Given the description of an element on the screen output the (x, y) to click on. 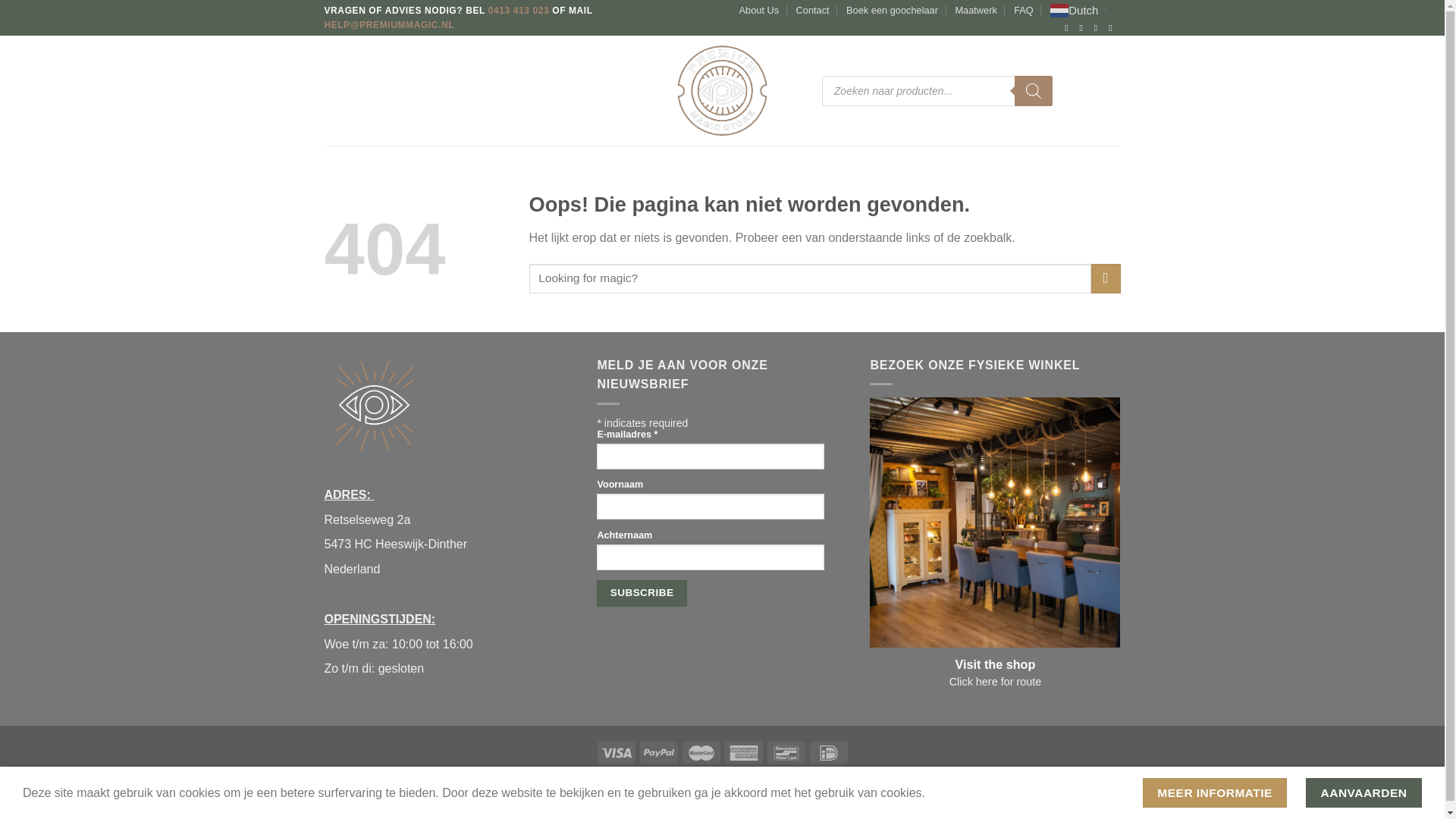
Boek een goochelaar (891, 10)
0413 413 023 (518, 9)
Winkelwagen (1113, 90)
Volg ons op Instagram (1084, 27)
Volg ons op Facebook (1069, 27)
Volg ons op YouTube (1113, 27)
HOME (338, 91)
About Us (758, 10)
Maatwerk (975, 10)
FAQ (1023, 10)
Subscribe (640, 592)
Stuur ons een e-mail (1098, 27)
Contact (812, 10)
PRODUCTS (396, 91)
The Premium Magic Store - More than just a magic shop (722, 90)
